Given the description of an element on the screen output the (x, y) to click on. 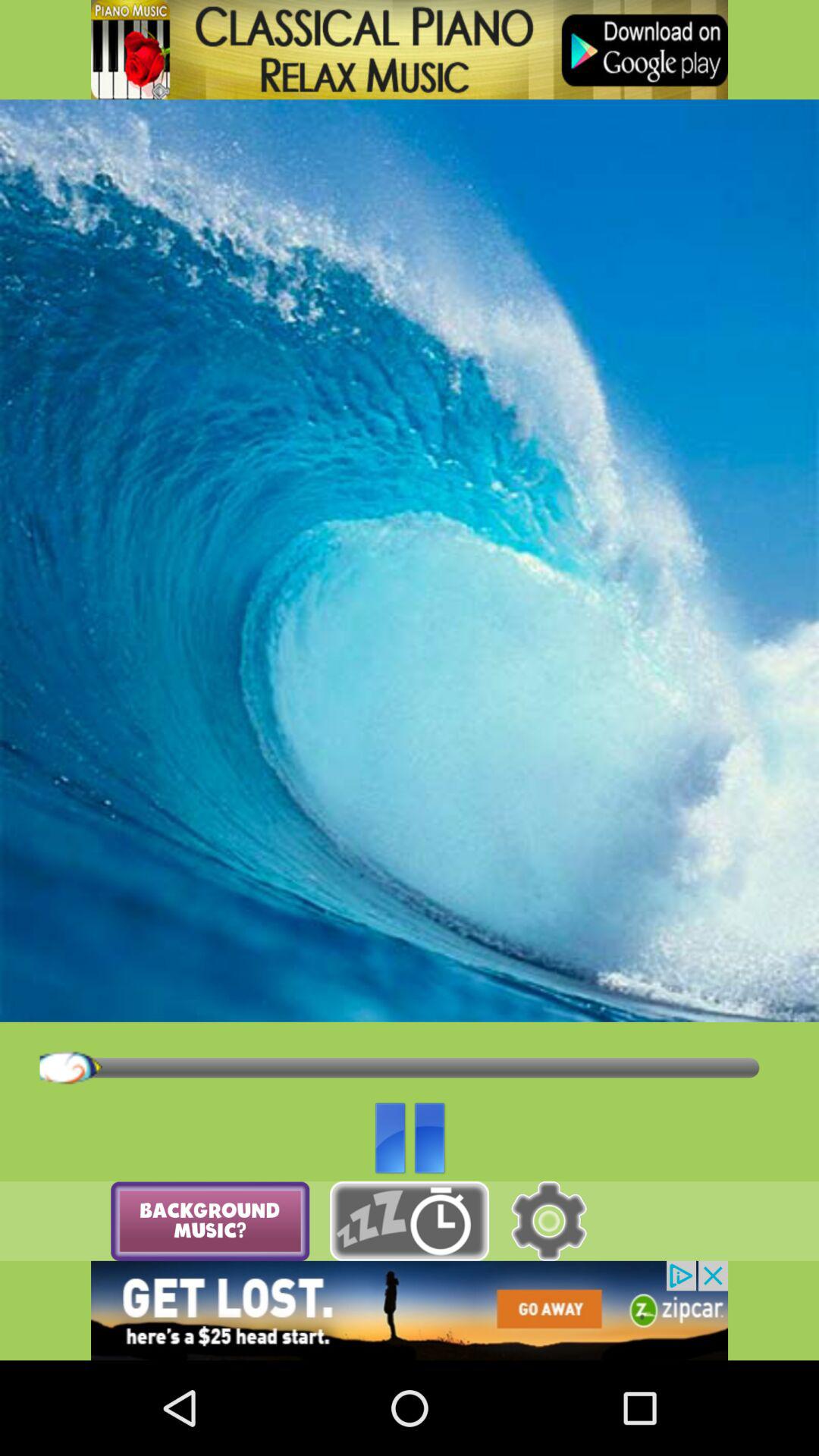
settings icon (548, 1220)
